Given the description of an element on the screen output the (x, y) to click on. 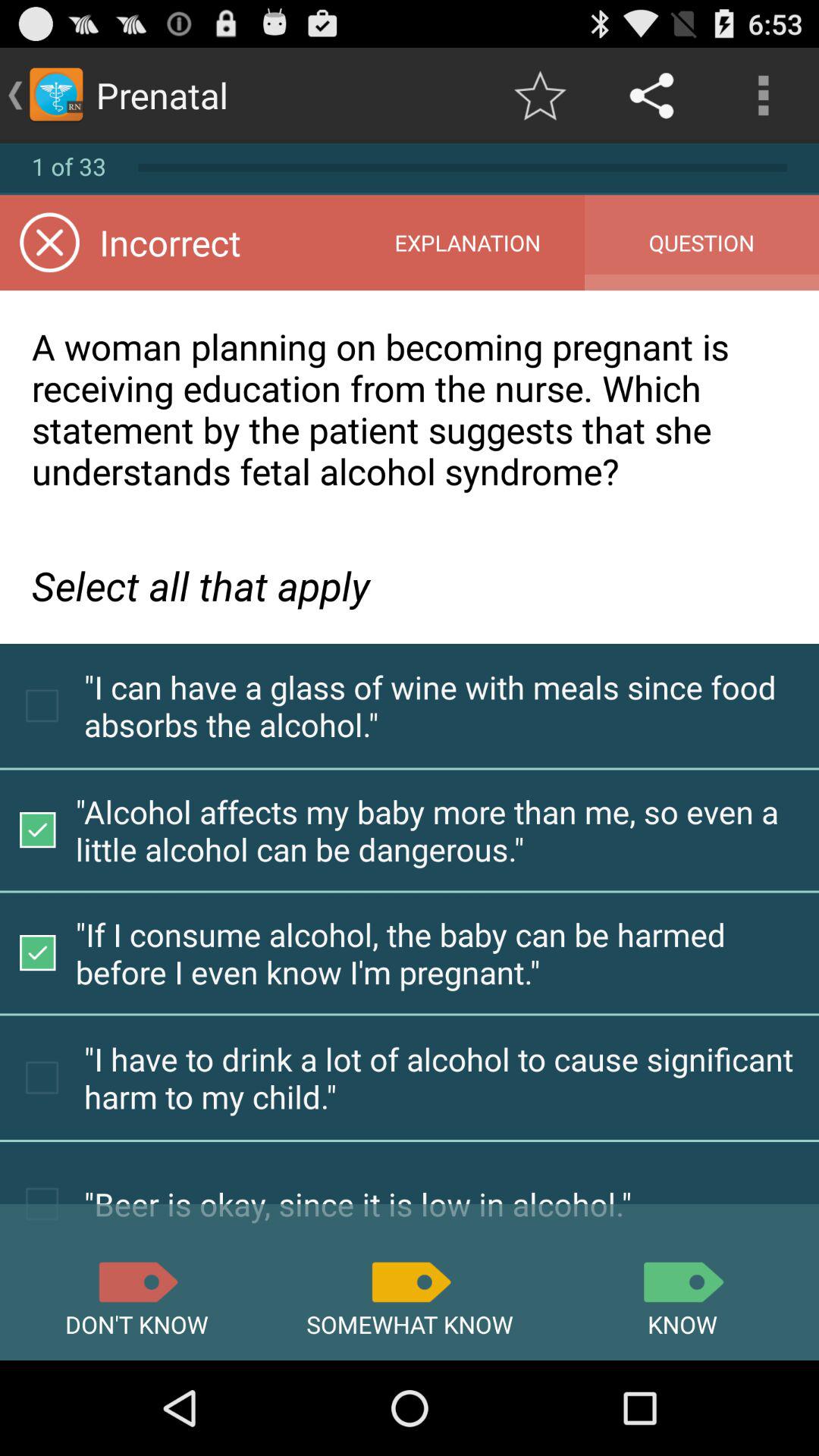
designate moderate confidence in answer (409, 1281)
